Given the description of an element on the screen output the (x, y) to click on. 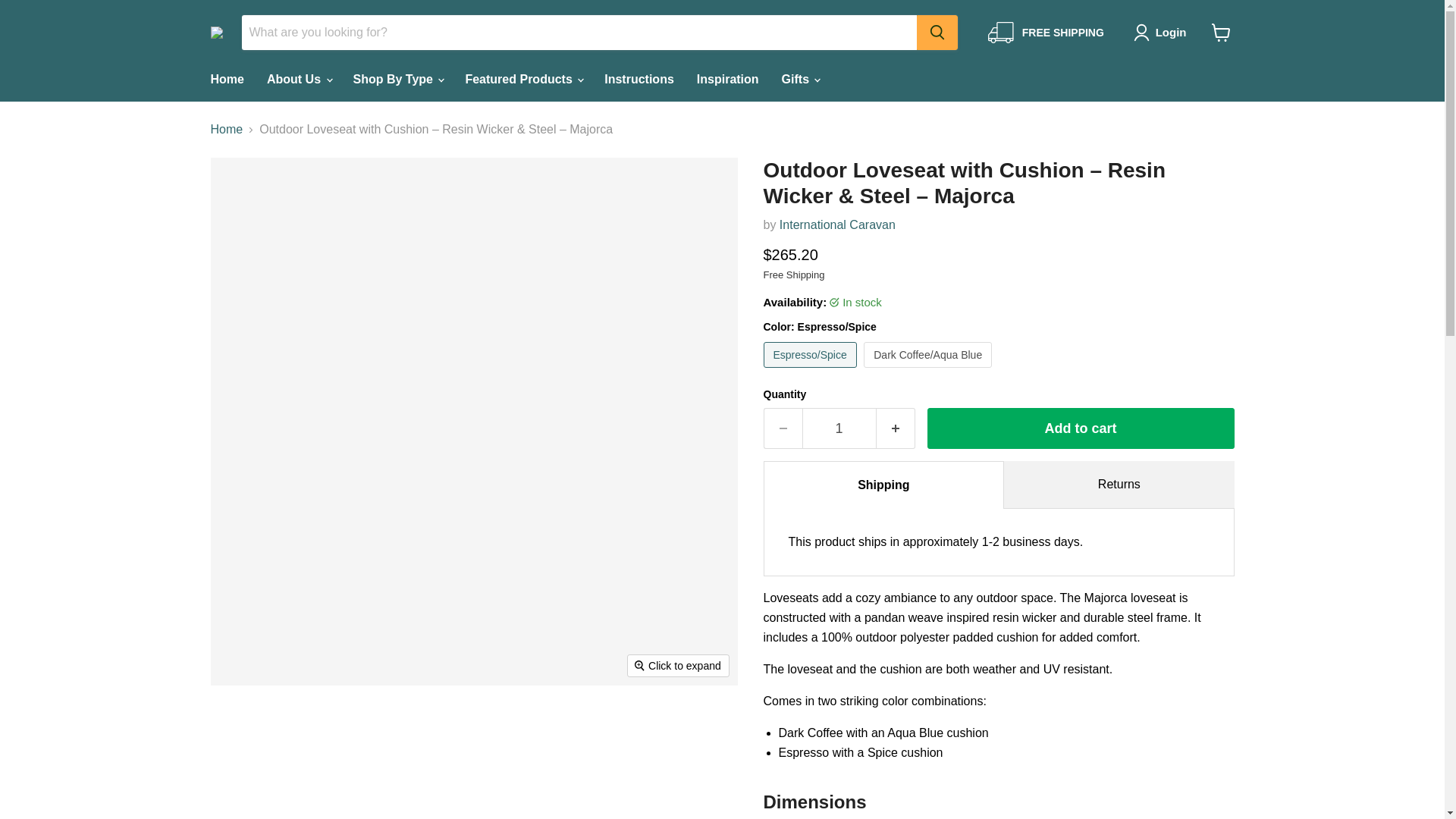
1 (839, 428)
Login (1163, 32)
Home (226, 79)
International Caravan (836, 224)
View cart (1221, 32)
